Given the description of an element on the screen output the (x, y) to click on. 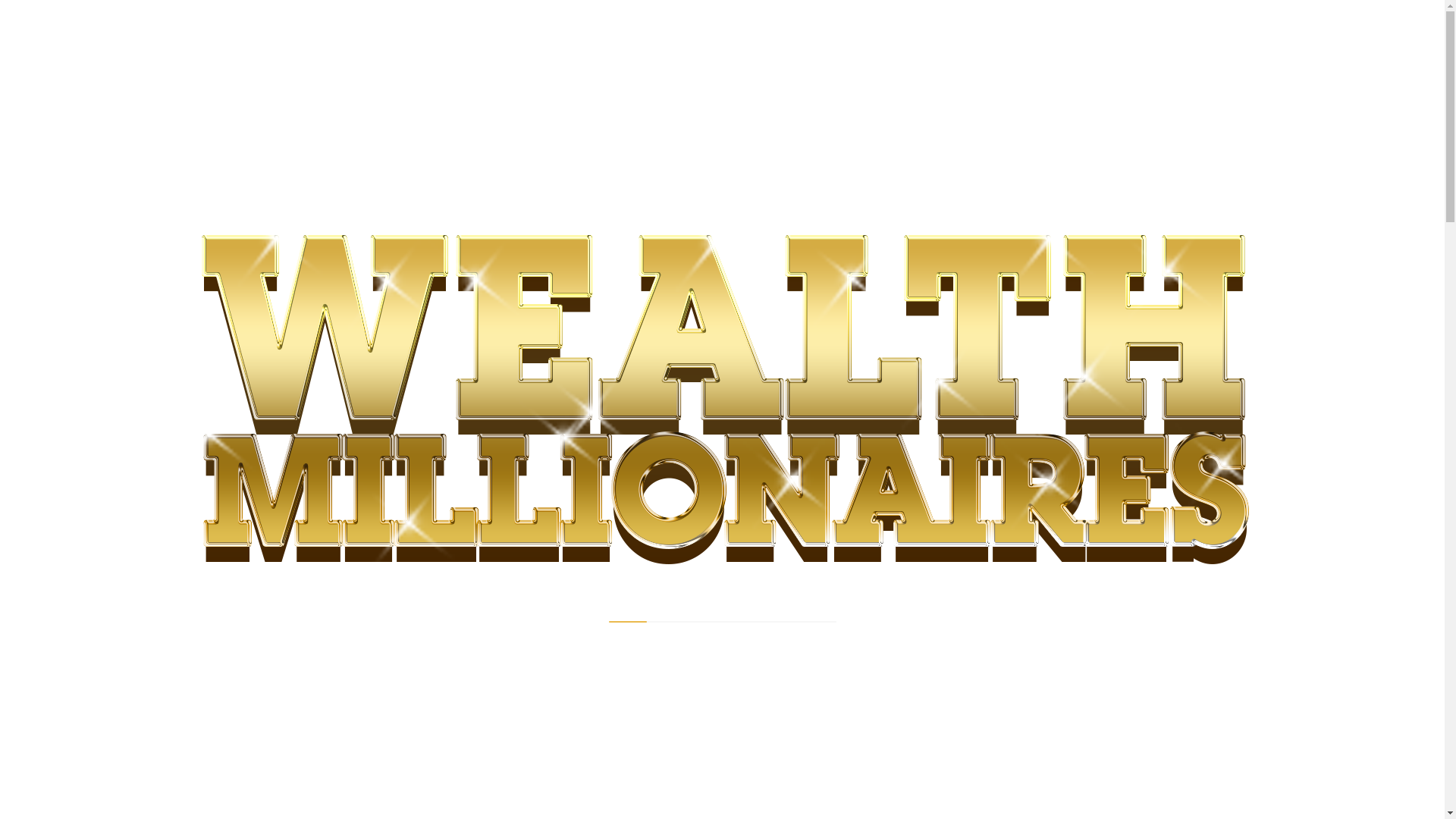
News (359, 289)
News (359, 289)
NEWS (322, 345)
Home (314, 289)
Home (314, 289)
